Given the description of an element on the screen output the (x, y) to click on. 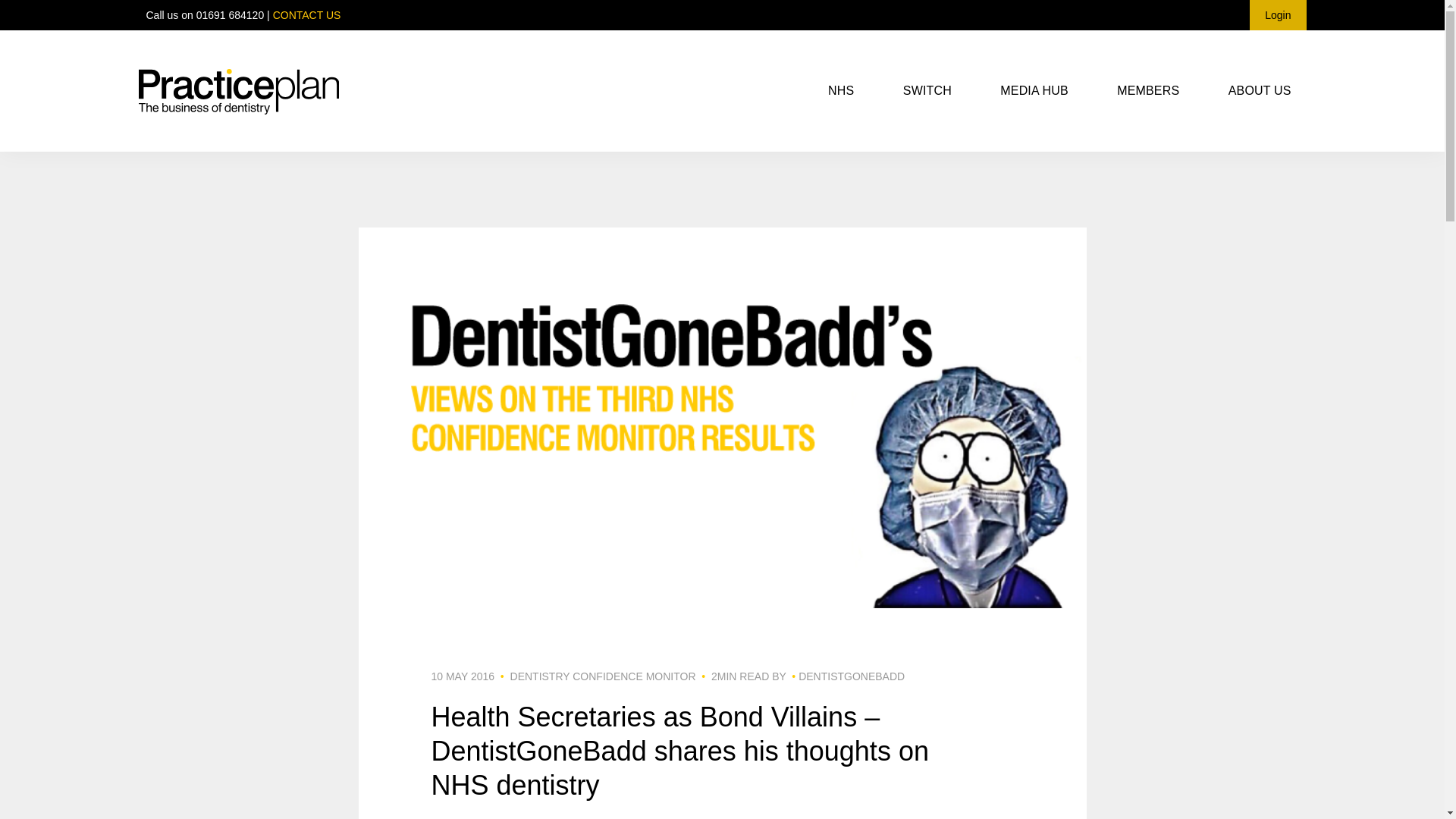
Login (1277, 15)
CONTACT US (306, 15)
01691 684120 (230, 15)
SWITCH (927, 91)
ABOUT US (1259, 91)
MEDIA HUB (1033, 91)
MEMBERS (1147, 91)
